Given the description of an element on the screen output the (x, y) to click on. 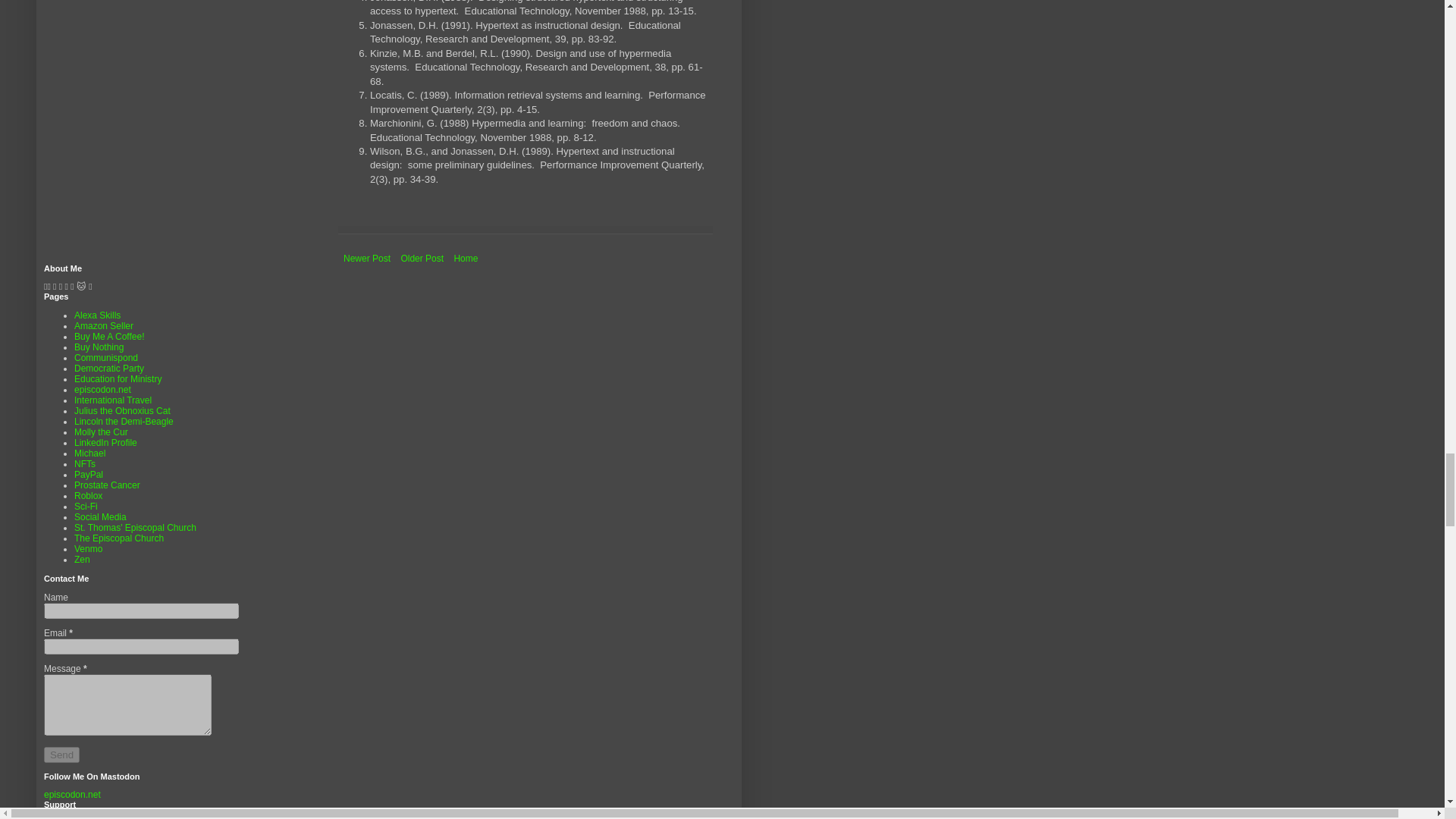
Lincoln the Demi-Beagle (123, 421)
episcodon.net (102, 389)
Buy Me A Coffee! (109, 336)
Send (61, 754)
Sci-Fi (85, 506)
Older Post (421, 258)
Buy Nothing (98, 347)
episcodon.net (71, 794)
Zen (82, 559)
Molly the Cur (101, 431)
NFTs (85, 463)
Alexa Skills (97, 315)
Older Post (421, 258)
Julius the Obnoxius Cat (122, 410)
Social Media (100, 516)
